Given the description of an element on the screen output the (x, y) to click on. 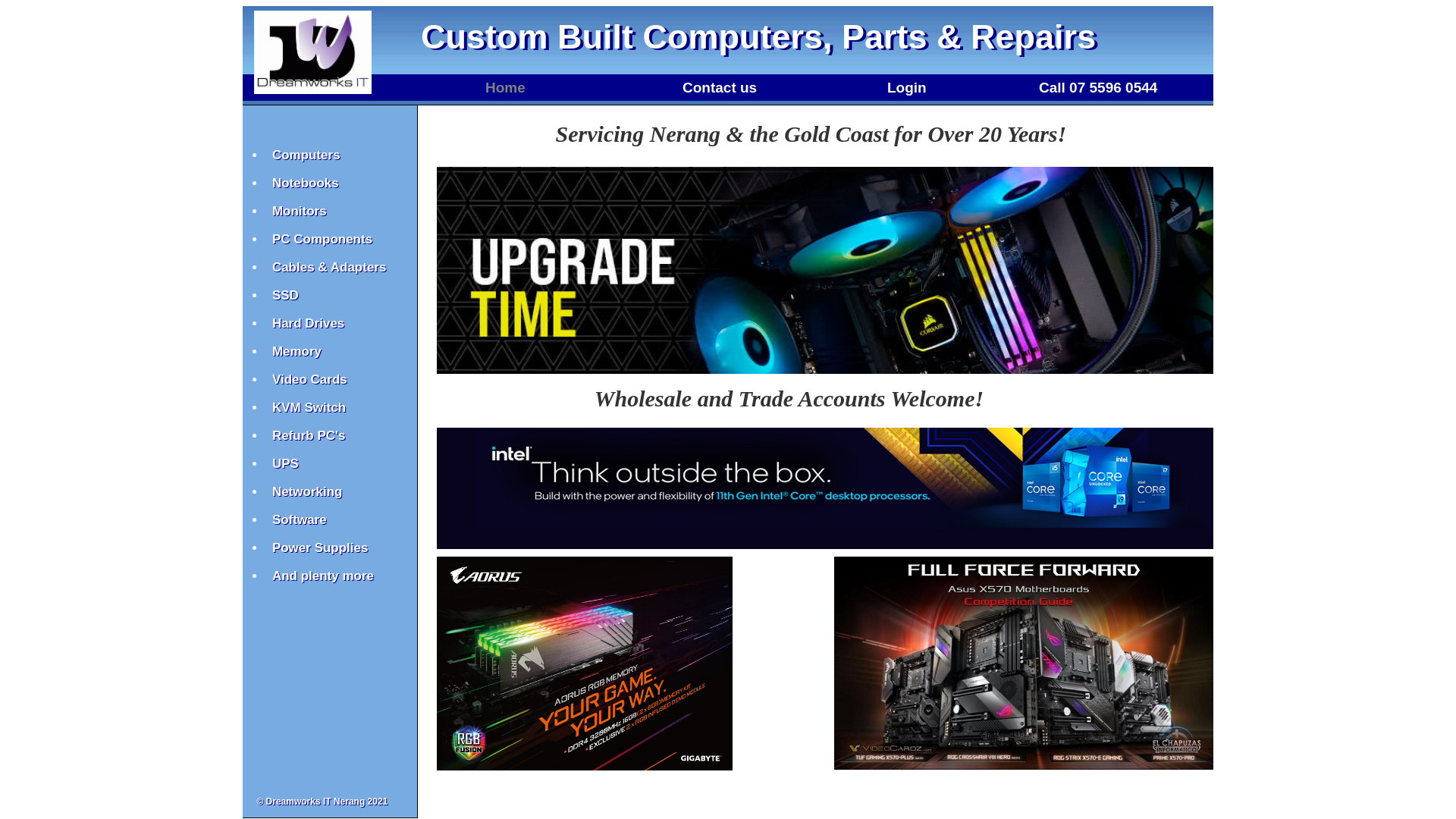
Contact us Element type: text (719, 87)
Login Element type: text (906, 87)
